Given the description of an element on the screen output the (x, y) to click on. 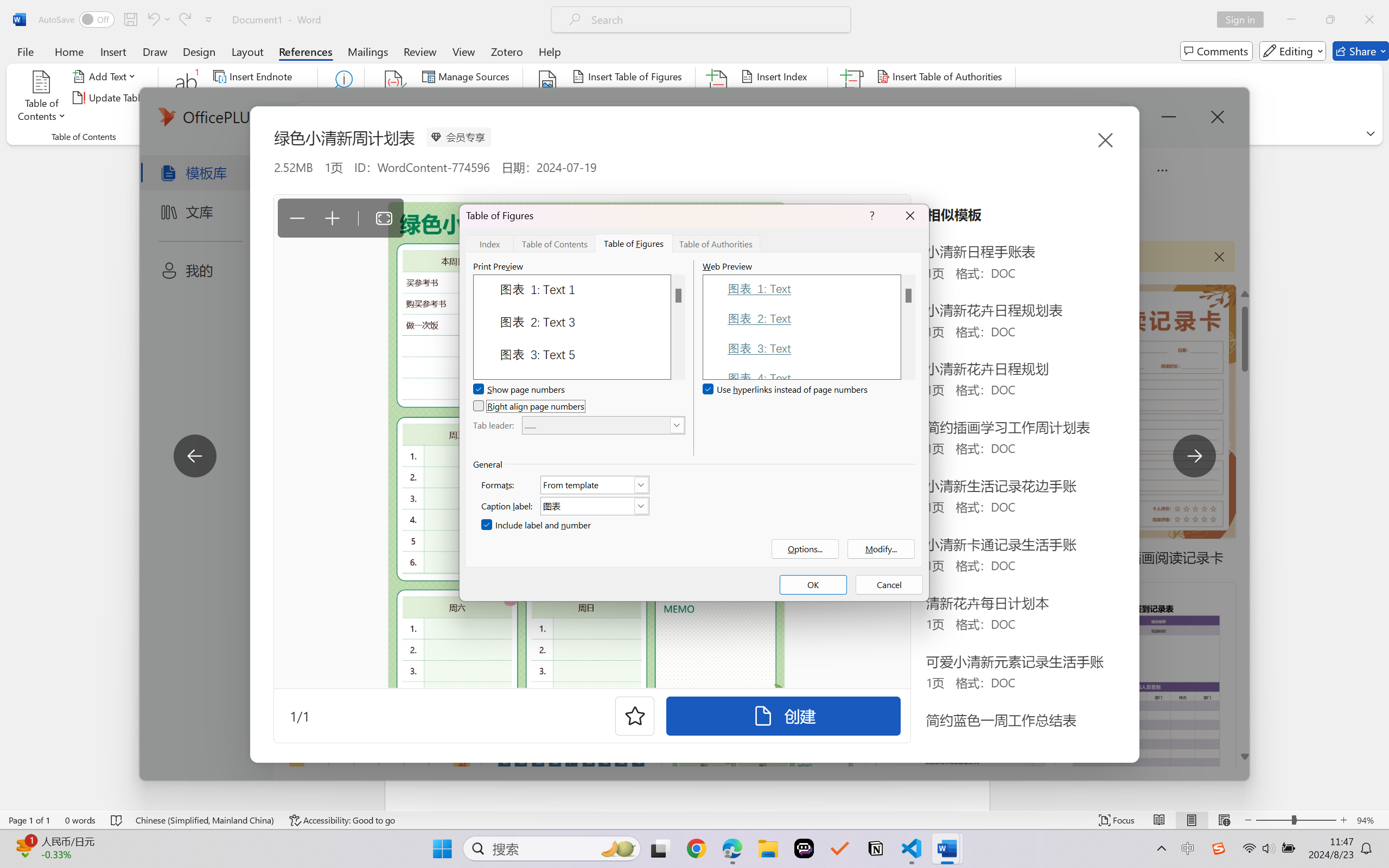
Style (483, 96)
Undo Apply Quick Style Set (158, 19)
